Given the description of an element on the screen output the (x, y) to click on. 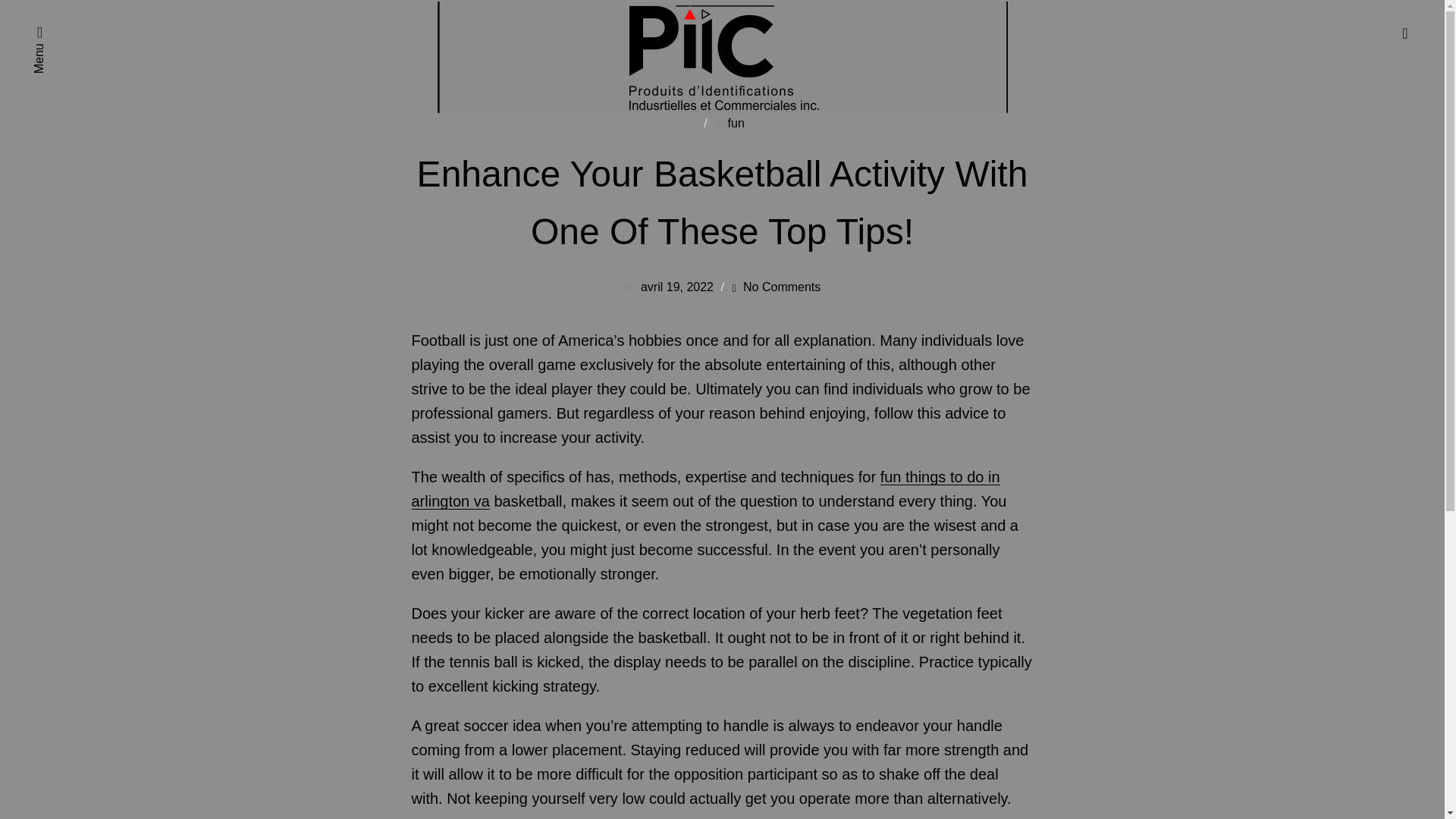
fun things to do in arlington va (704, 488)
fun (736, 123)
